Given the description of an element on the screen output the (x, y) to click on. 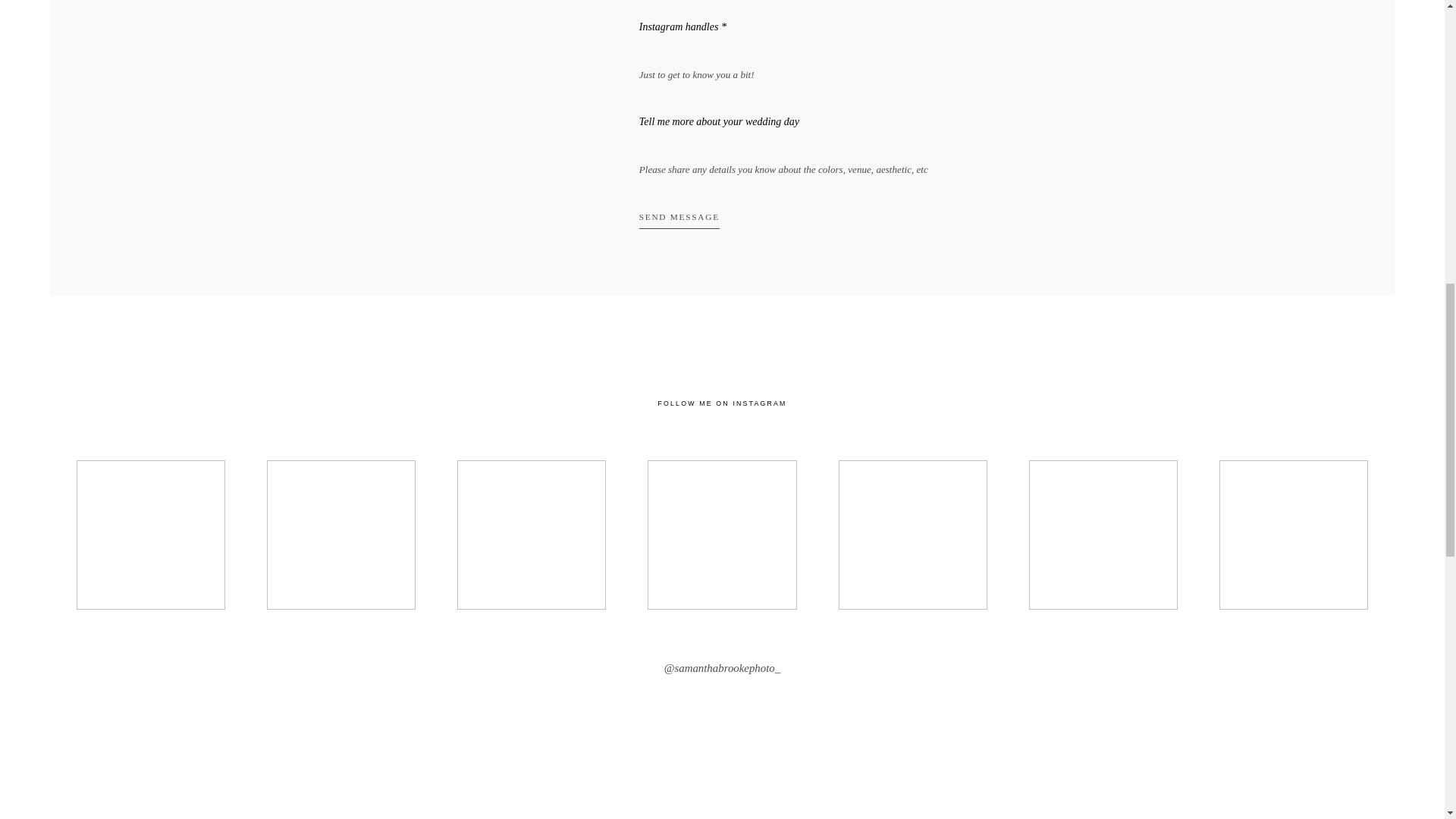
SEND MESSAGE (679, 223)
